Given the description of an element on the screen output the (x, y) to click on. 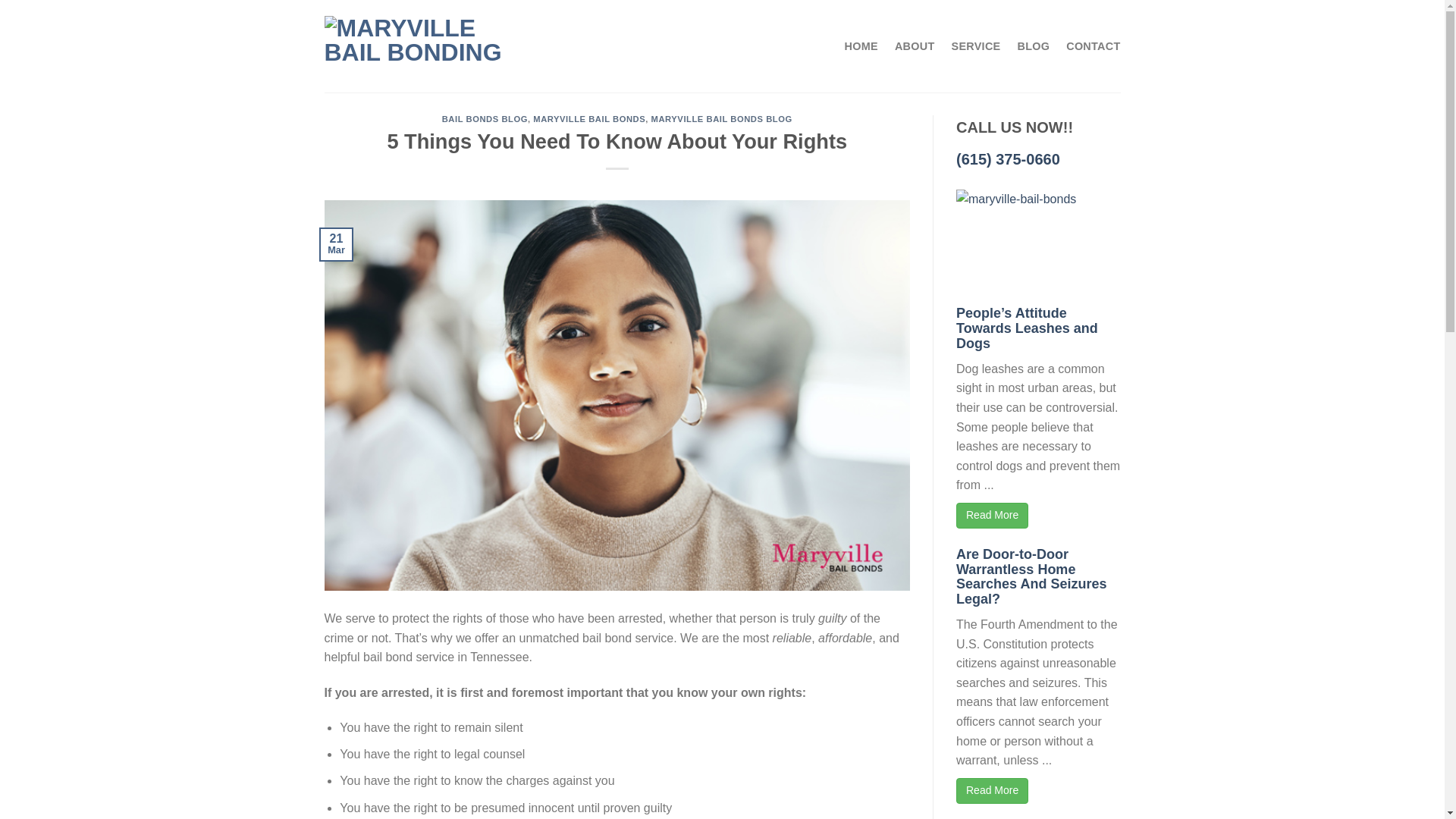
ABOUT (914, 45)
MARYVILLE BAIL BONDS (588, 118)
HOME (860, 45)
MARYVILLE BAIL BONDS BLOG (721, 118)
Read More (991, 515)
BAIL BONDS BLOG (484, 118)
Read More (991, 790)
SERVICE (976, 45)
